Given the description of an element on the screen output the (x, y) to click on. 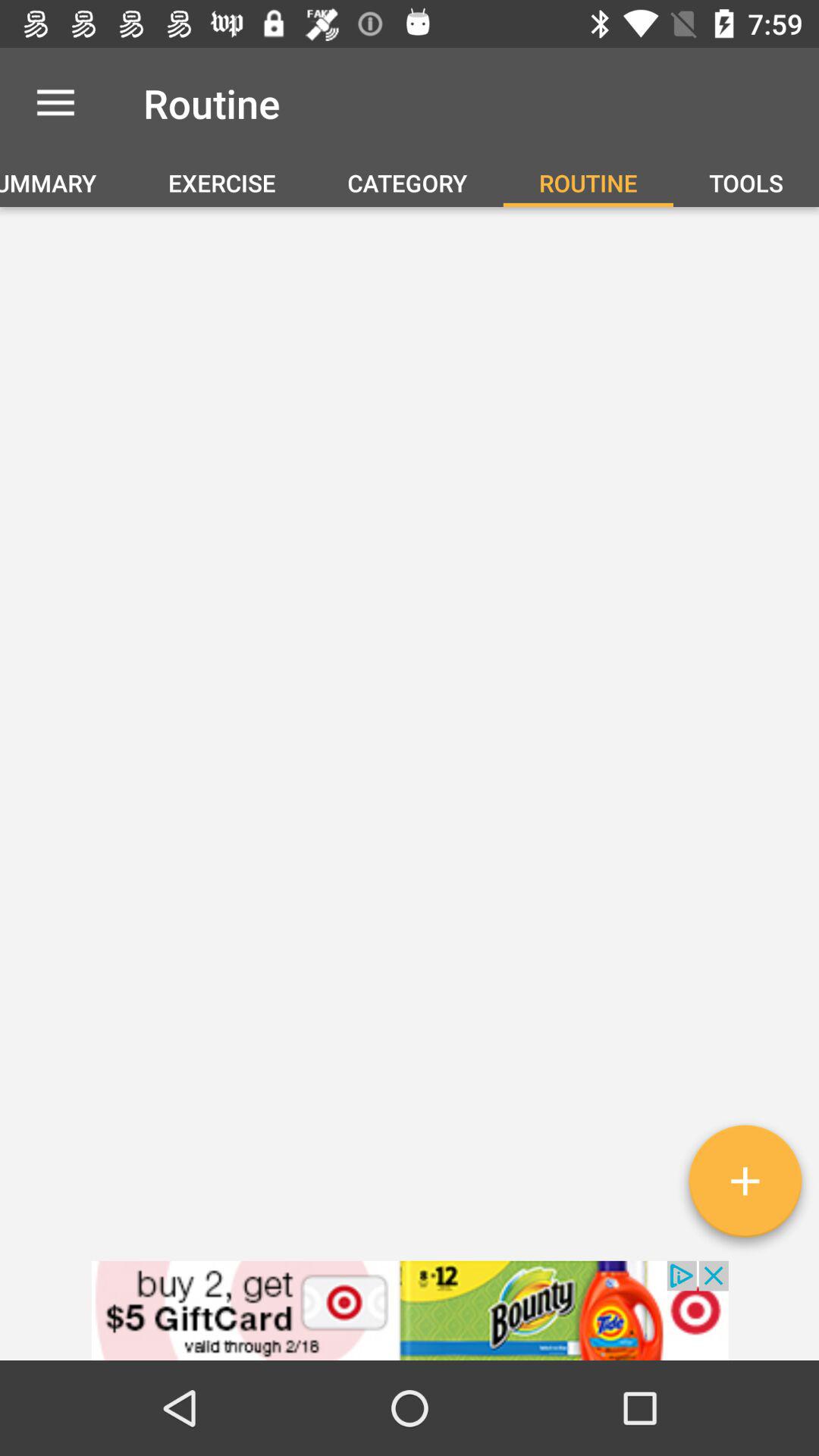
add new (745, 1186)
